Given the description of an element on the screen output the (x, y) to click on. 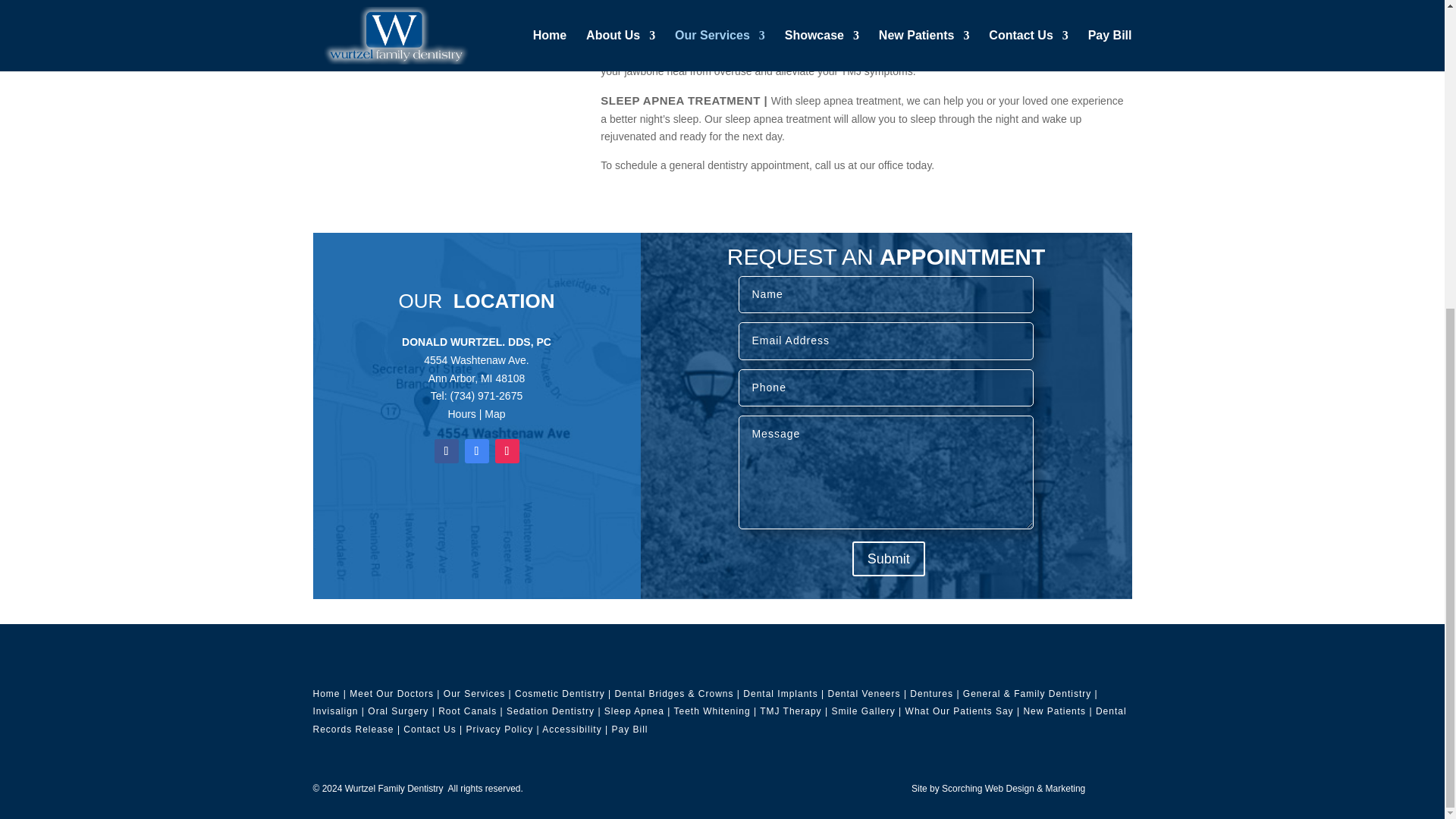
Follow on Facebook (445, 450)
Hours (461, 413)
4554 Washtenaw Ave. (476, 359)
Follow on Google (475, 450)
Ann Arbor, MI 48108 (476, 378)
Follow on Instagram (506, 450)
Map (494, 413)
